Given the description of an element on the screen output the (x, y) to click on. 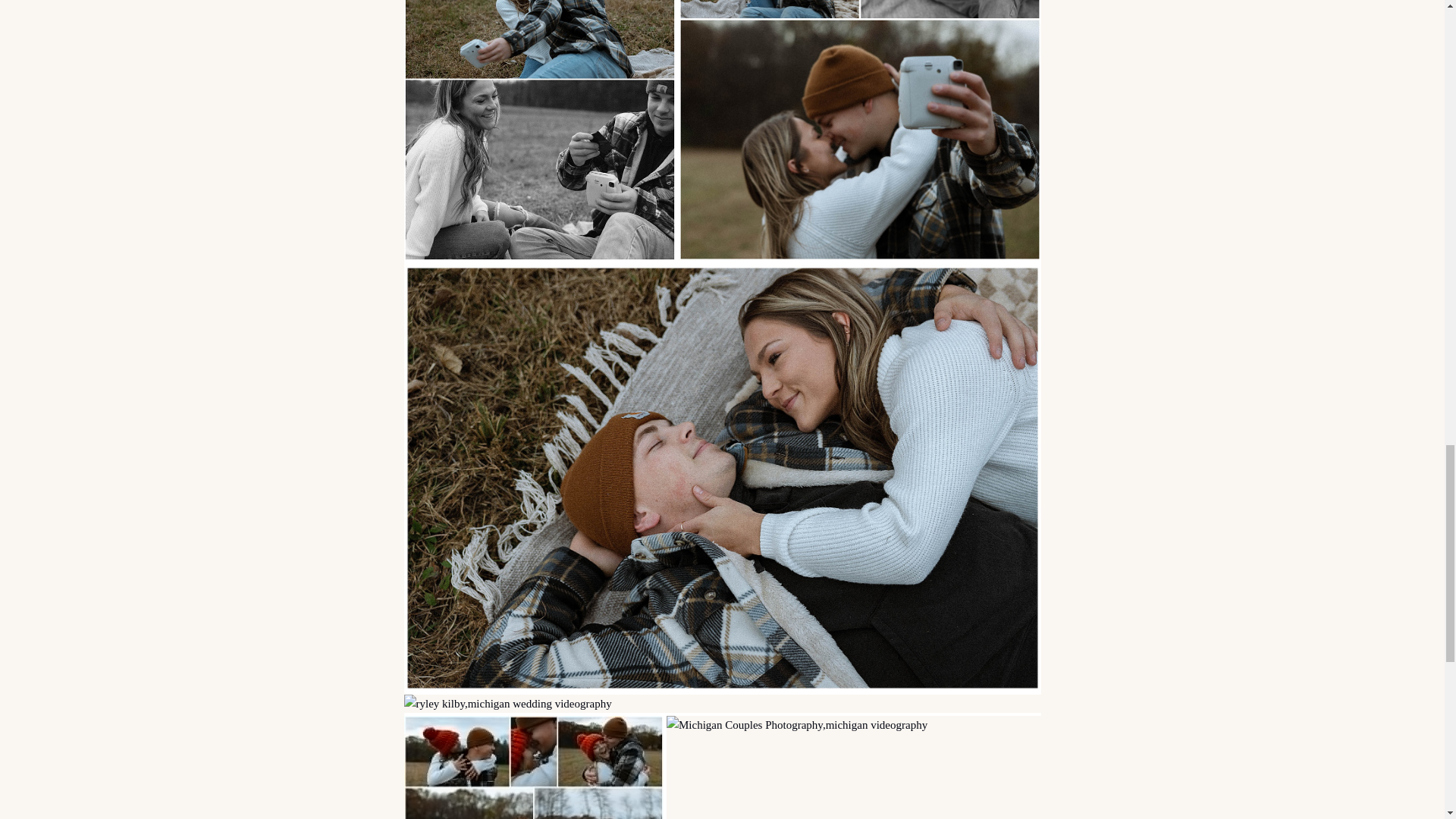
michigan wedding photography,ryley kilby (539, 130)
michigan videography (532, 767)
michigan wedding videography,michigan videography (853, 767)
ryley kilby,michigan videography (722, 703)
Michigan Couples Photography,michigan wedding photography (859, 130)
